Given the description of an element on the screen output the (x, y) to click on. 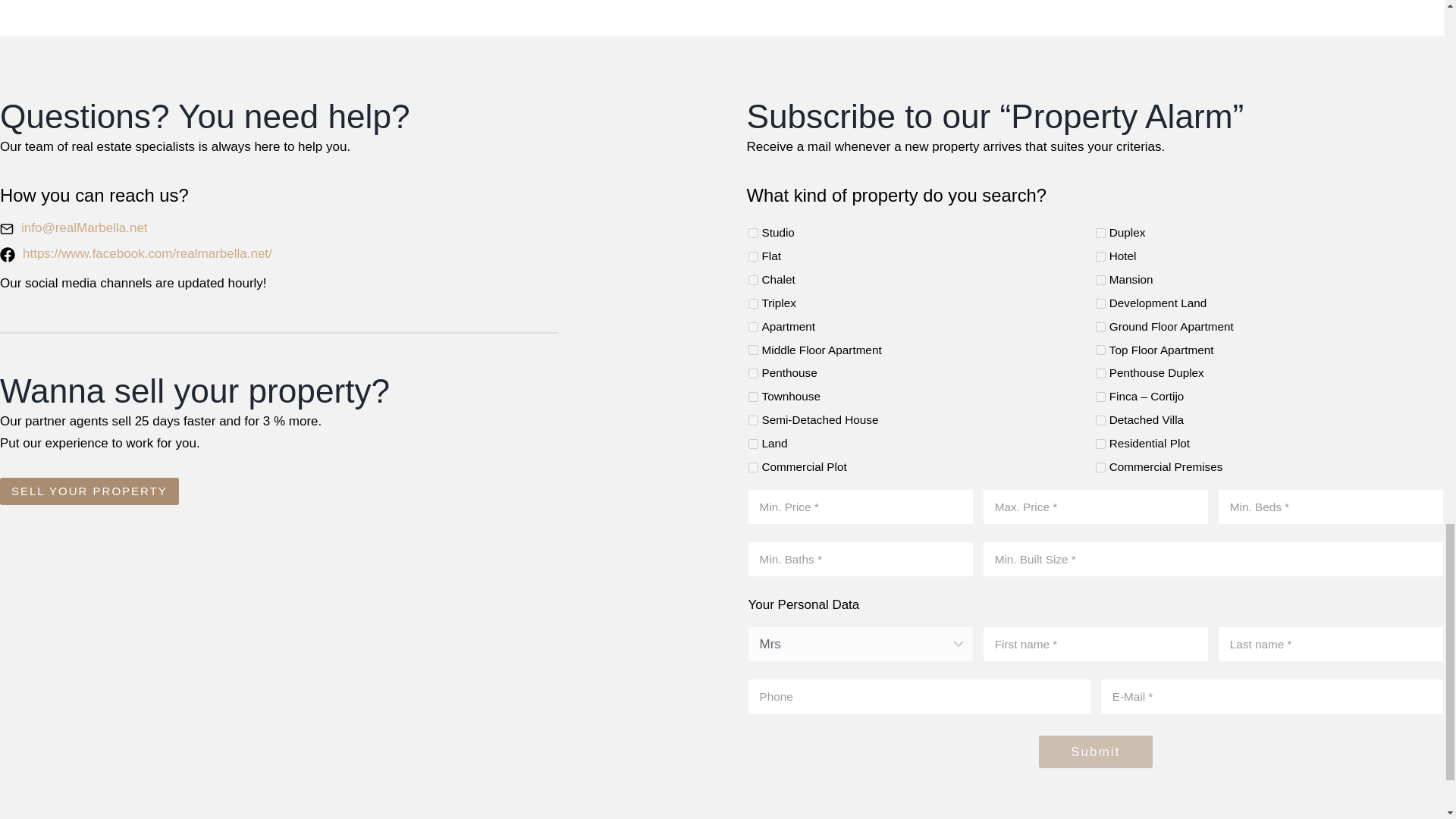
734 (752, 397)
2047 (752, 256)
1981 (1100, 233)
707 (1100, 327)
2080 (752, 303)
773 (1100, 397)
803 (752, 349)
2073 (1100, 256)
1969 (752, 233)
2091 (1100, 303)
709 (752, 373)
2074 (752, 280)
2076 (1100, 280)
685 (752, 327)
756 (1100, 373)
